Given the description of an element on the screen output the (x, y) to click on. 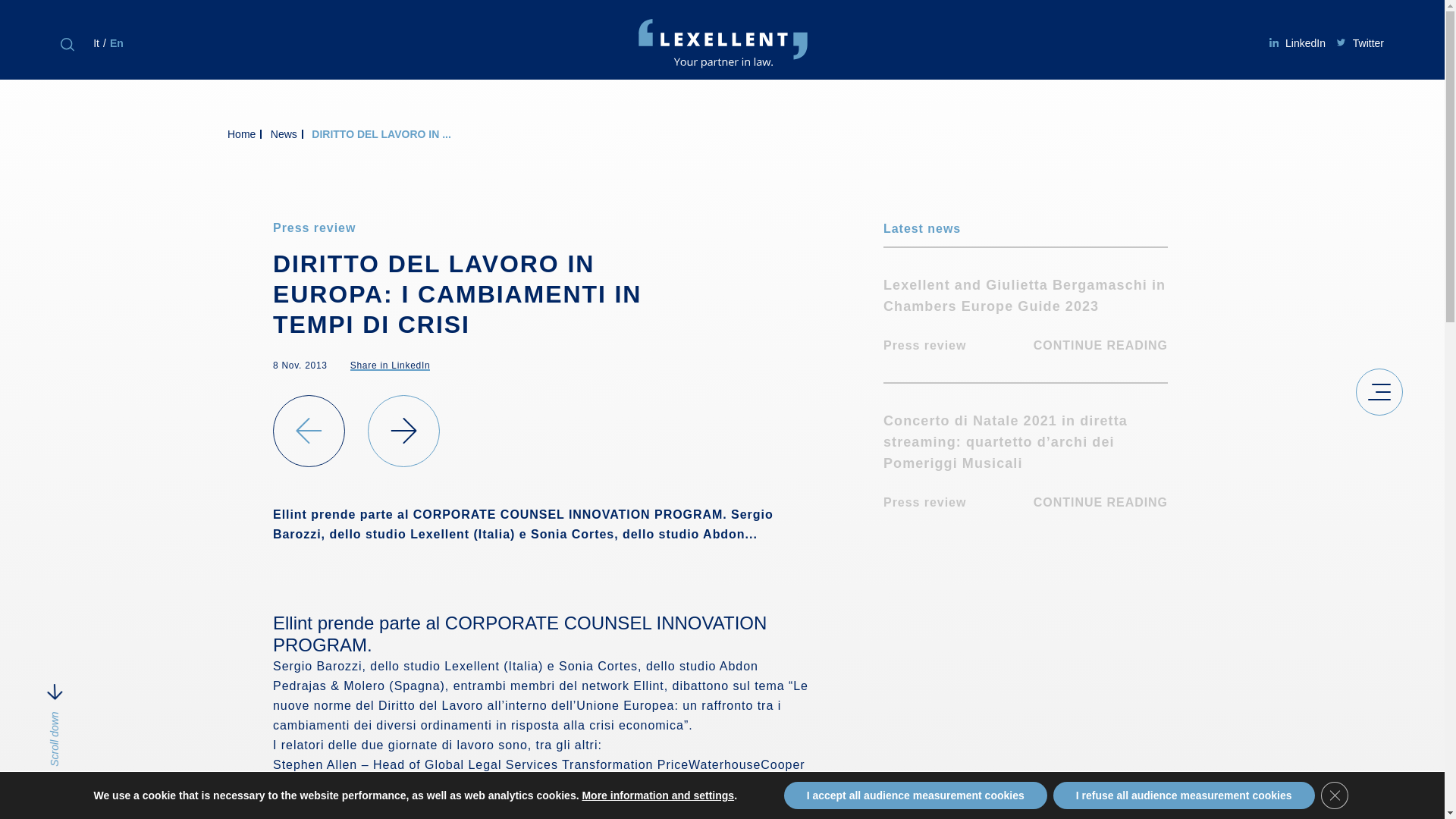
LinkedIn (1298, 42)
DIRITTO DEL LAVORO IN ... (382, 133)
Home (243, 133)
Share in LinkedIn (390, 365)
En (116, 42)
News (285, 133)
Twitter (1360, 42)
Scroll down (101, 691)
Scroll down (101, 691)
